Given the description of an element on the screen output the (x, y) to click on. 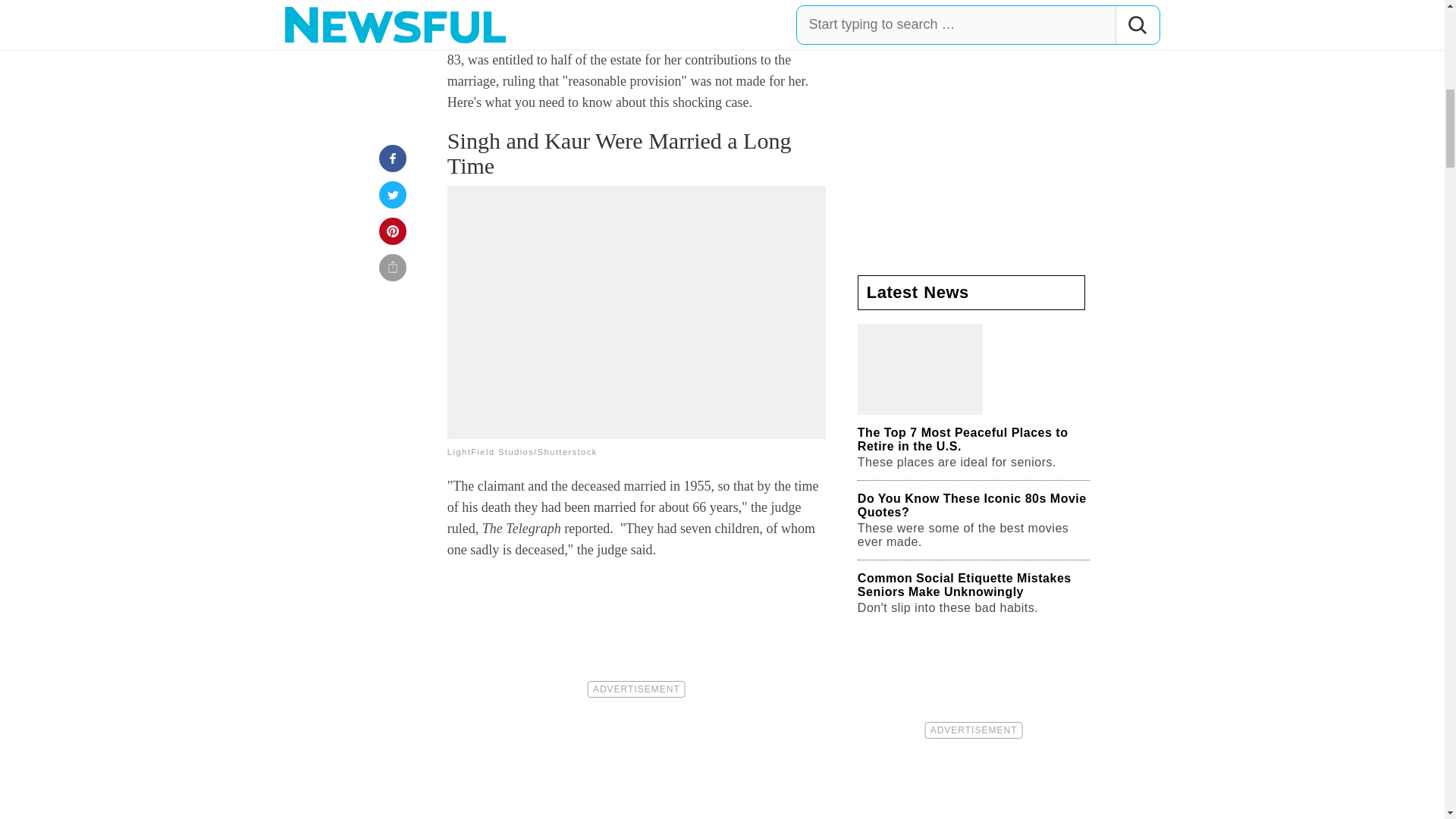
Common Social Etiquette Mistakes Seniors Make Unknowingly (973, 593)
Do You Know These Iconic 80s Movie Quotes? (973, 520)
The Top 7 Most Peaceful Places to Retire in the U.S. (973, 401)
